Given the description of an element on the screen output the (x, y) to click on. 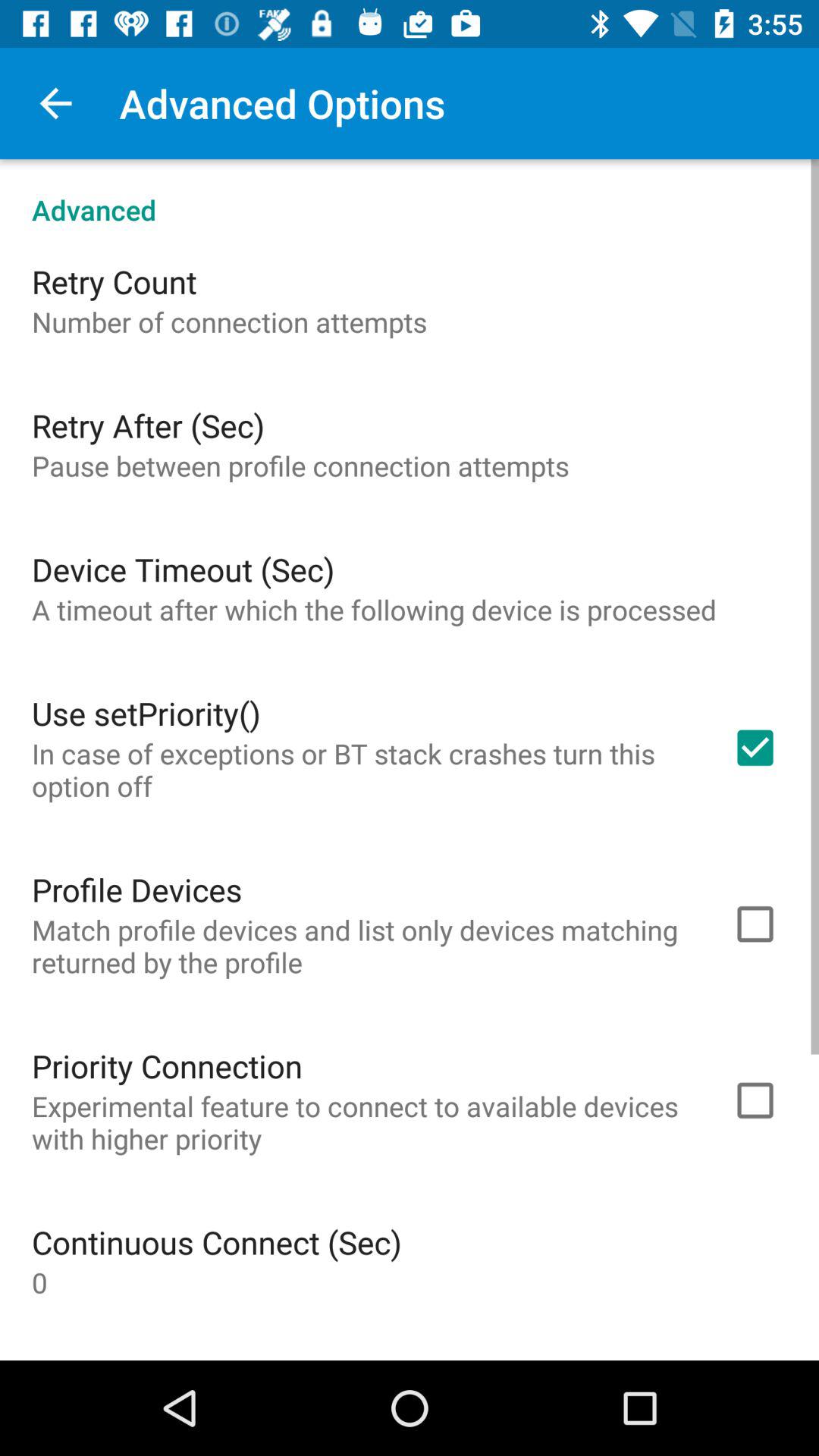
open the item above the device timeout (sec) item (300, 465)
